Given the description of an element on the screen output the (x, y) to click on. 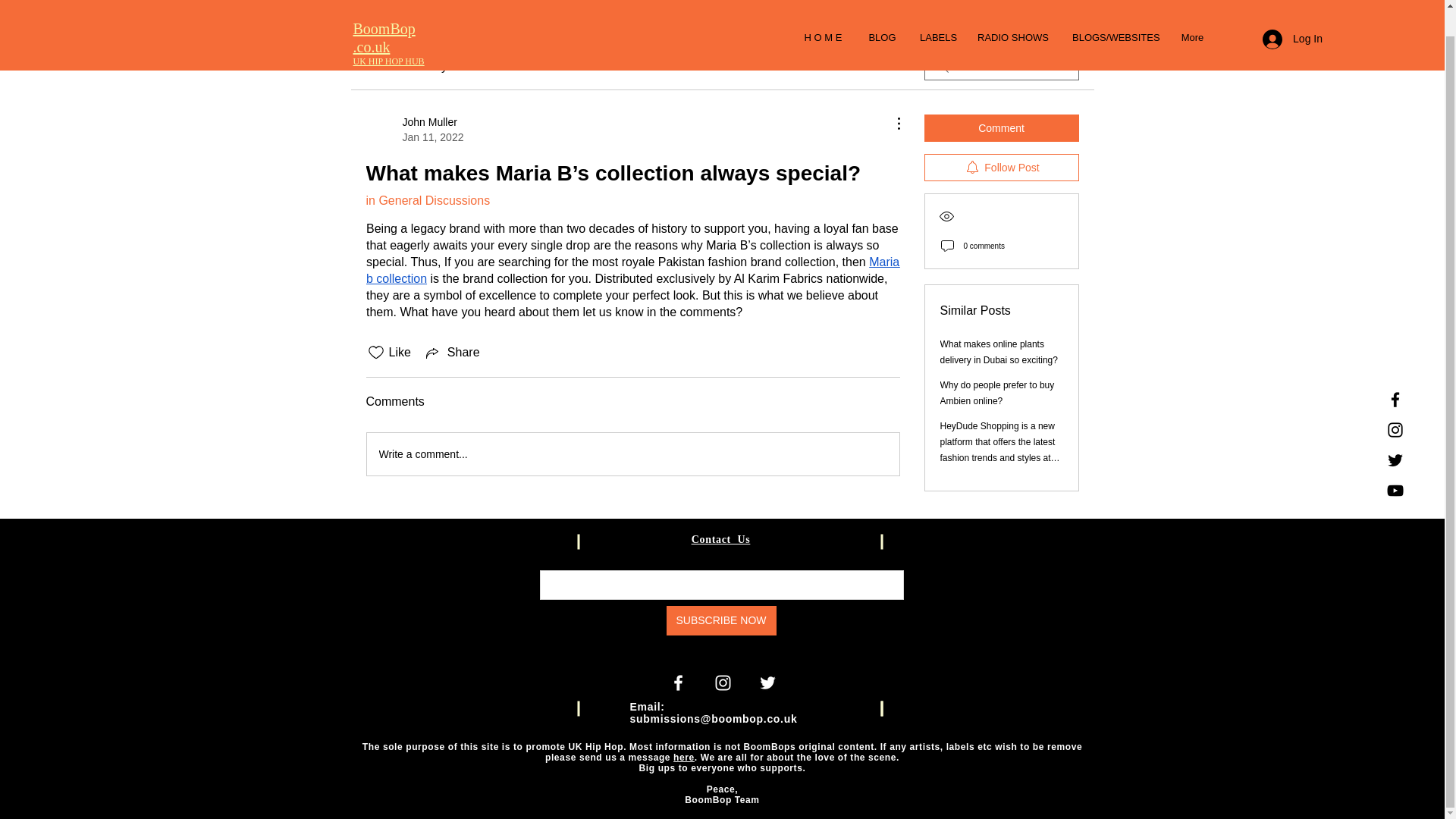
in General Discussions (427, 200)
BLOG (882, 12)
SUBSCRIBE NOW (720, 620)
LABELS (936, 12)
Write a comment... (632, 454)
BoomBop (383, 5)
My Posts (455, 66)
Log In (1292, 13)
Maria b collection (633, 270)
H O M E (823, 12)
